Given the description of an element on the screen output the (x, y) to click on. 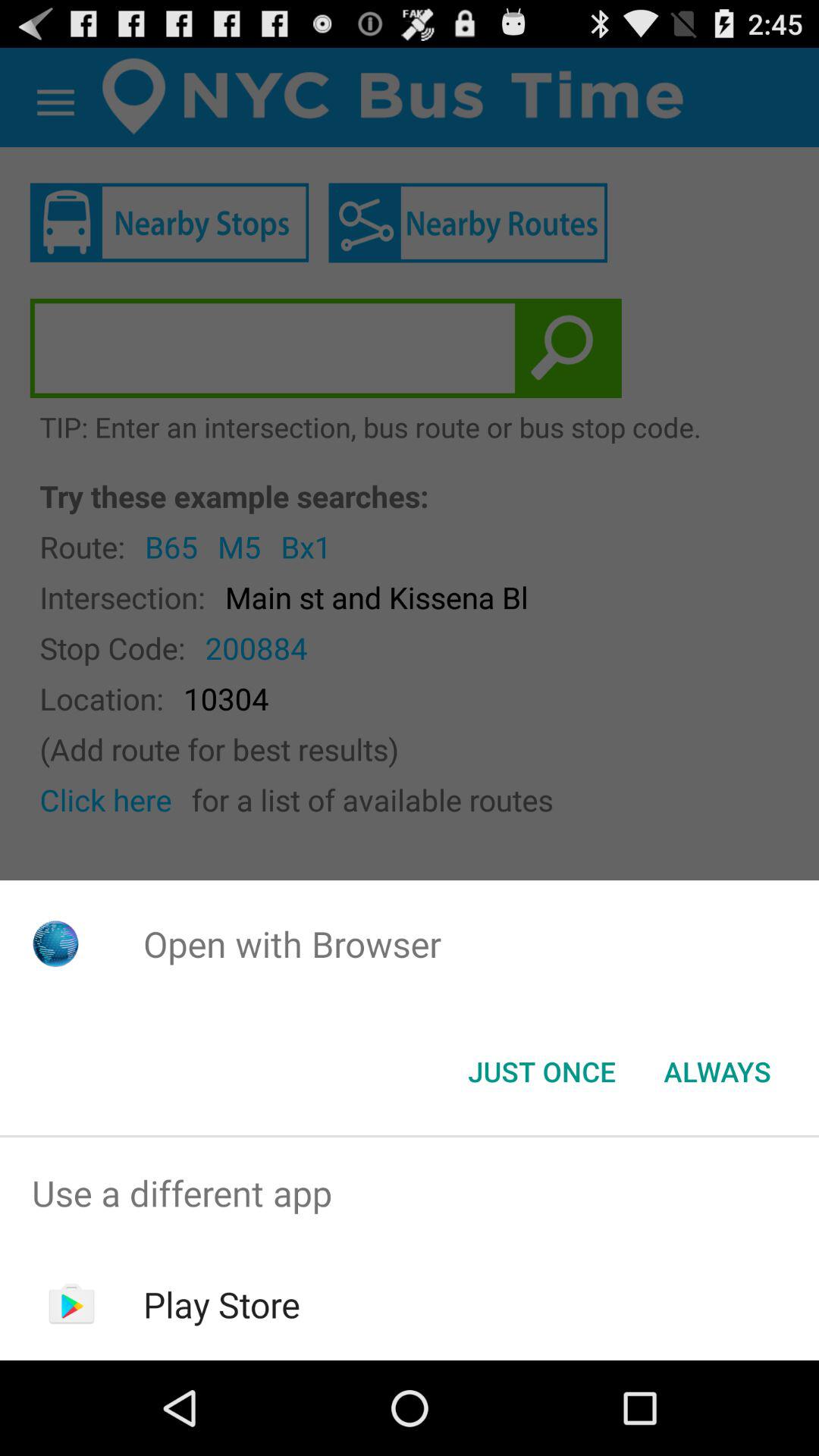
select the play store app (221, 1304)
